Given the description of an element on the screen output the (x, y) to click on. 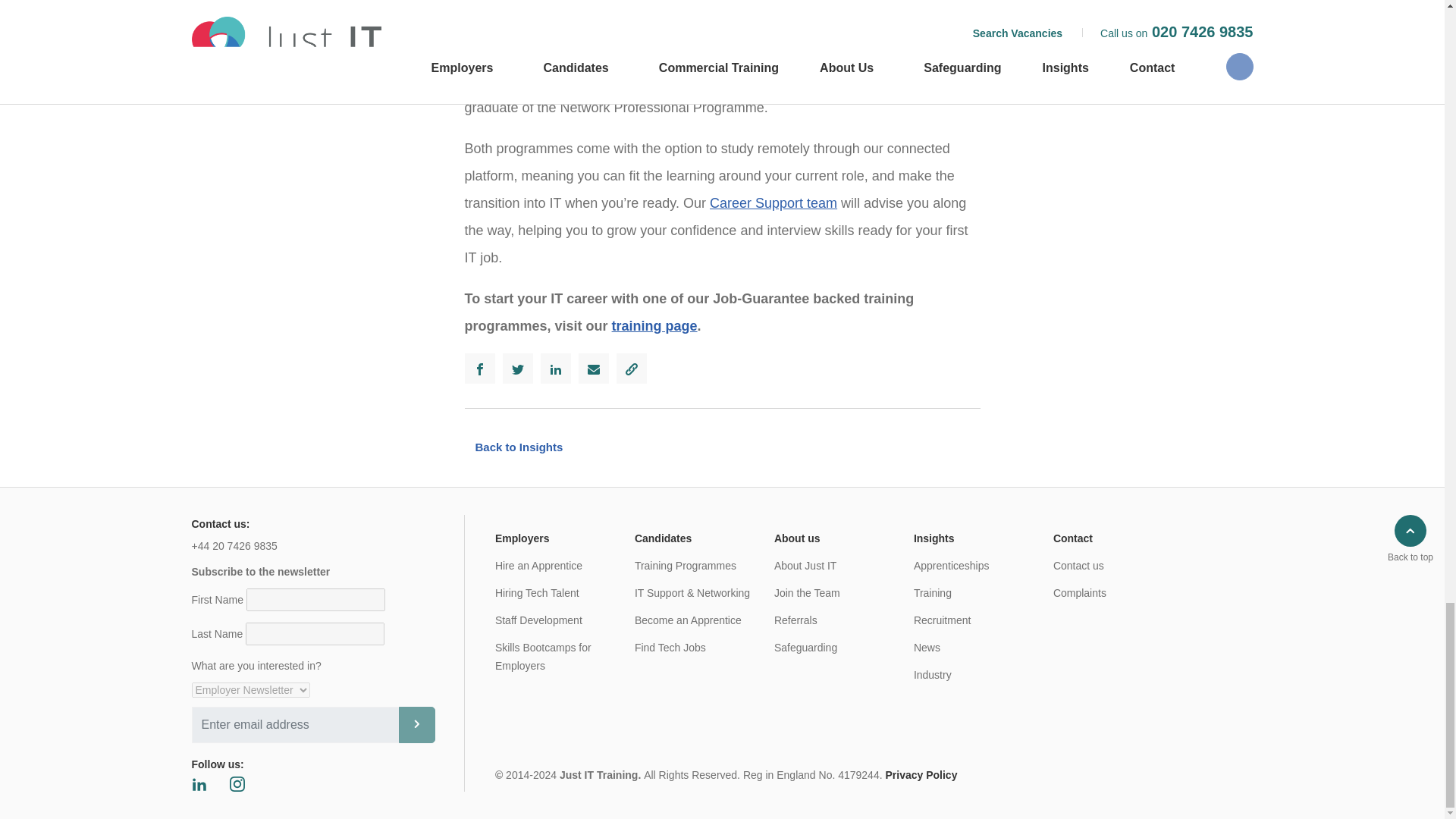
Back to top (1409, 557)
Back to top (1409, 539)
